Given the description of an element on the screen output the (x, y) to click on. 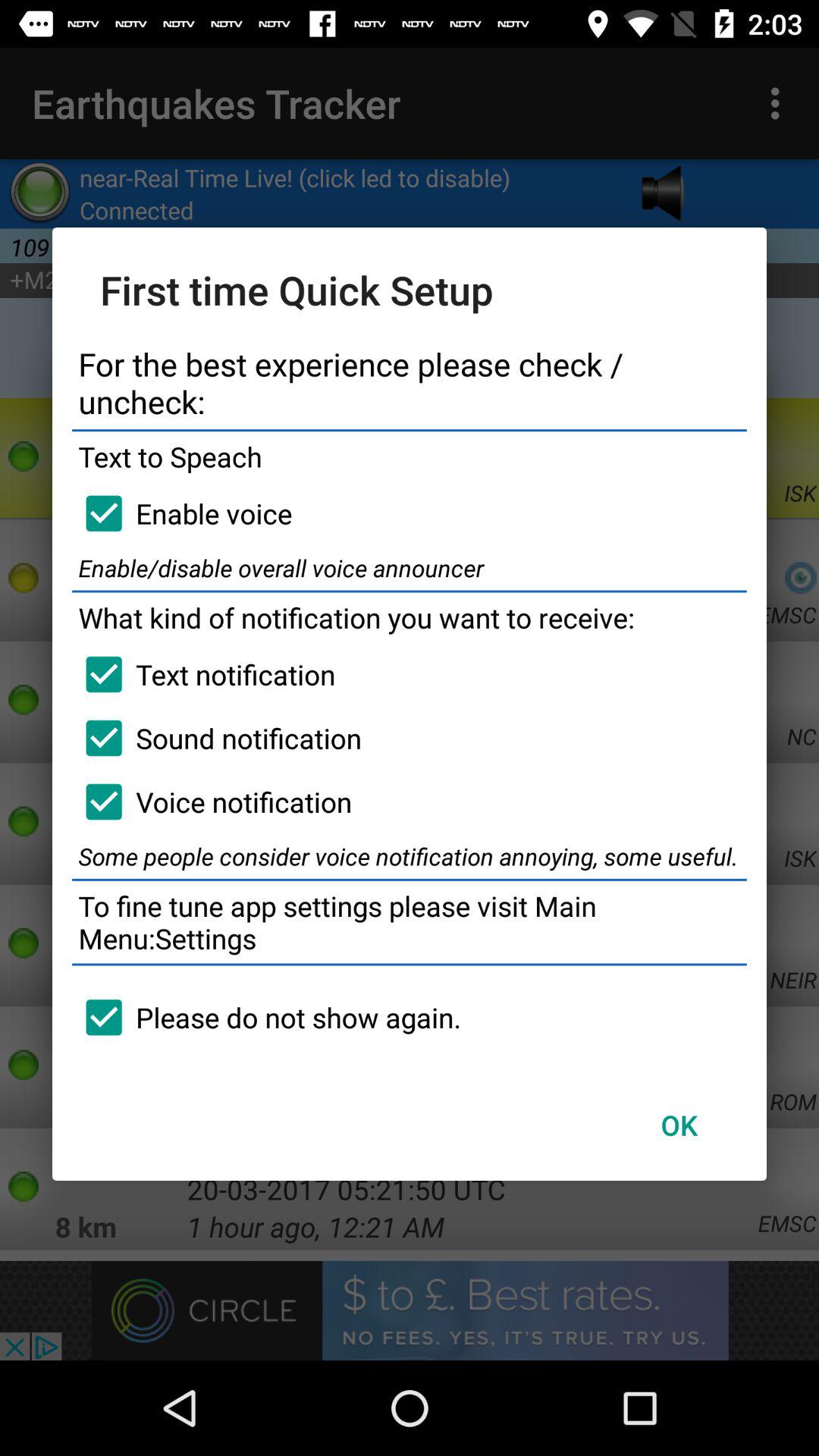
scroll to the text notification item (203, 674)
